Given the description of an element on the screen output the (x, y) to click on. 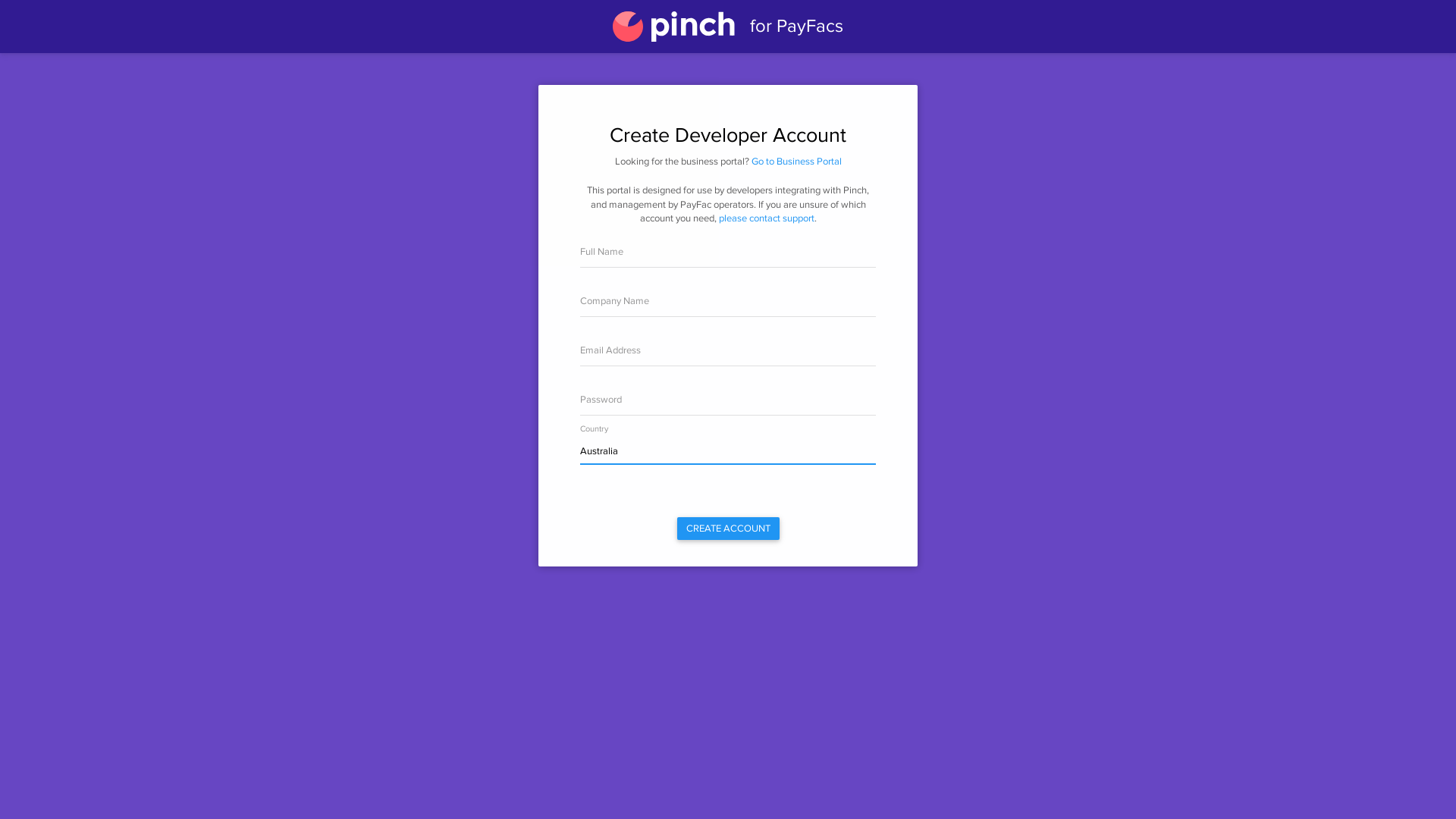
for PayFacs Element type: text (727, 26)
Go to Business Portal Element type: text (795, 161)
CREATE ACCOUNT Element type: text (727, 528)
please contact support Element type: text (766, 218)
